Given the description of an element on the screen output the (x, y) to click on. 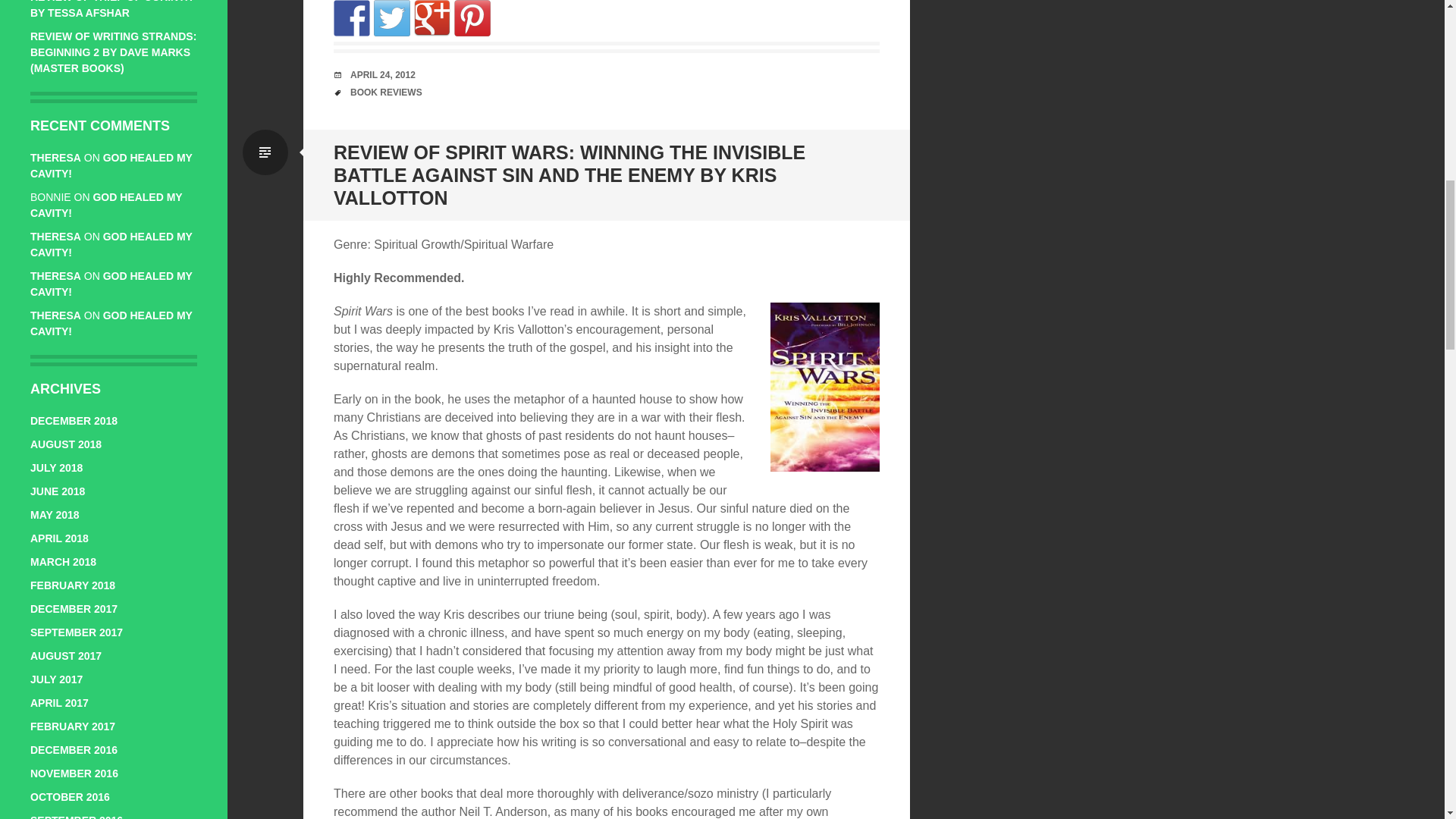
FEBRUARY 2018 (72, 585)
DECEMBER 2016 (73, 749)
GOD HEALED MY CAVITY! (111, 323)
OCTOBER 2016 (70, 797)
GOD HEALED MY CAVITY! (111, 165)
JUNE 2018 (57, 491)
GOD HEALED MY CAVITY! (111, 284)
Share on Facebook (351, 18)
JULY 2017 (56, 679)
APRIL 2017 (59, 702)
4:39 pm (382, 74)
THERESA (55, 315)
JULY 2018 (56, 467)
NOVEMBER 2016 (73, 773)
REVIEW OF THIEF OF CORINTH BY TESSA AFSHAR (111, 9)
